Given the description of an element on the screen output the (x, y) to click on. 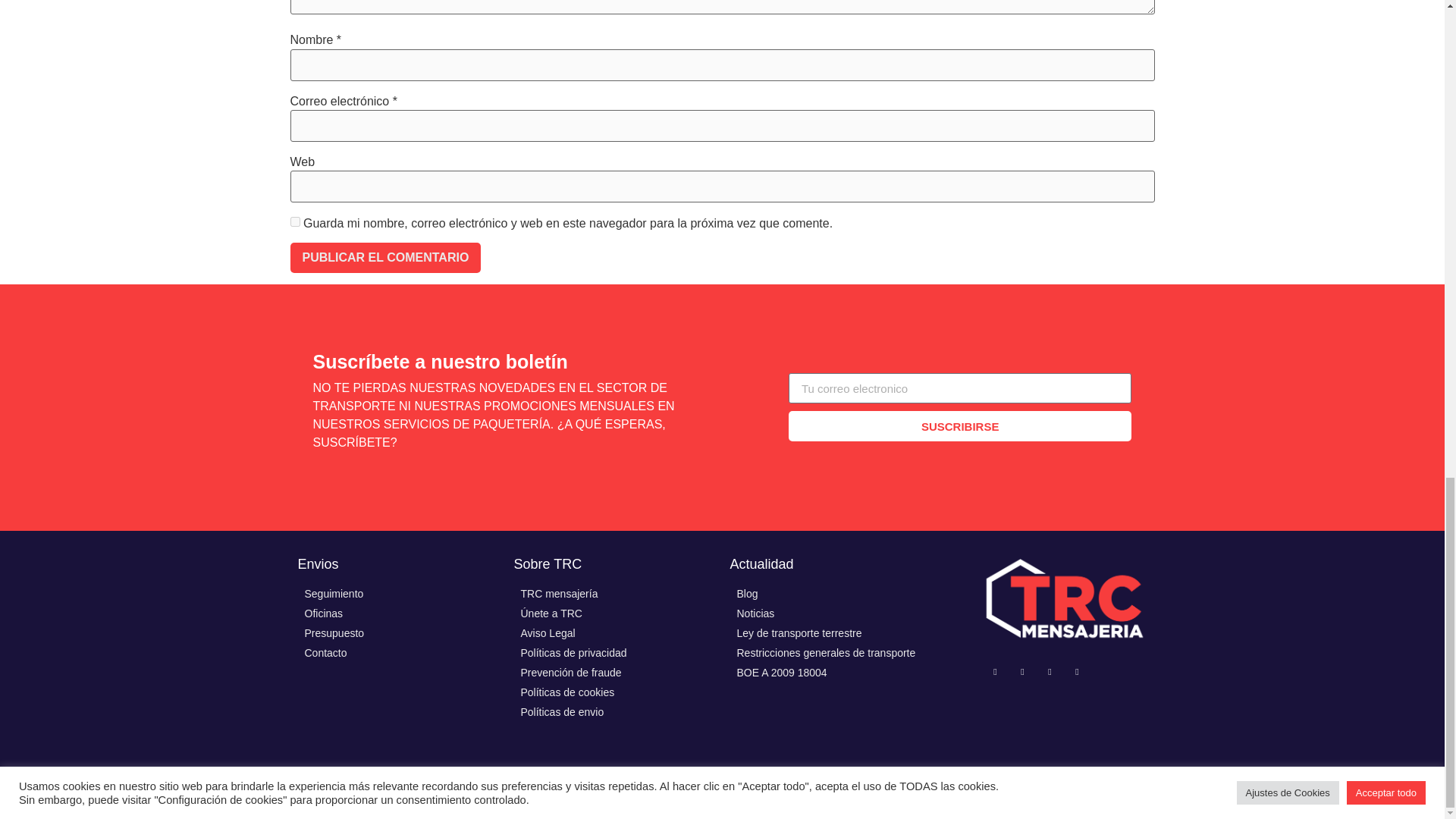
Publicar el comentario (384, 257)
yes (294, 221)
